Given the description of an element on the screen output the (x, y) to click on. 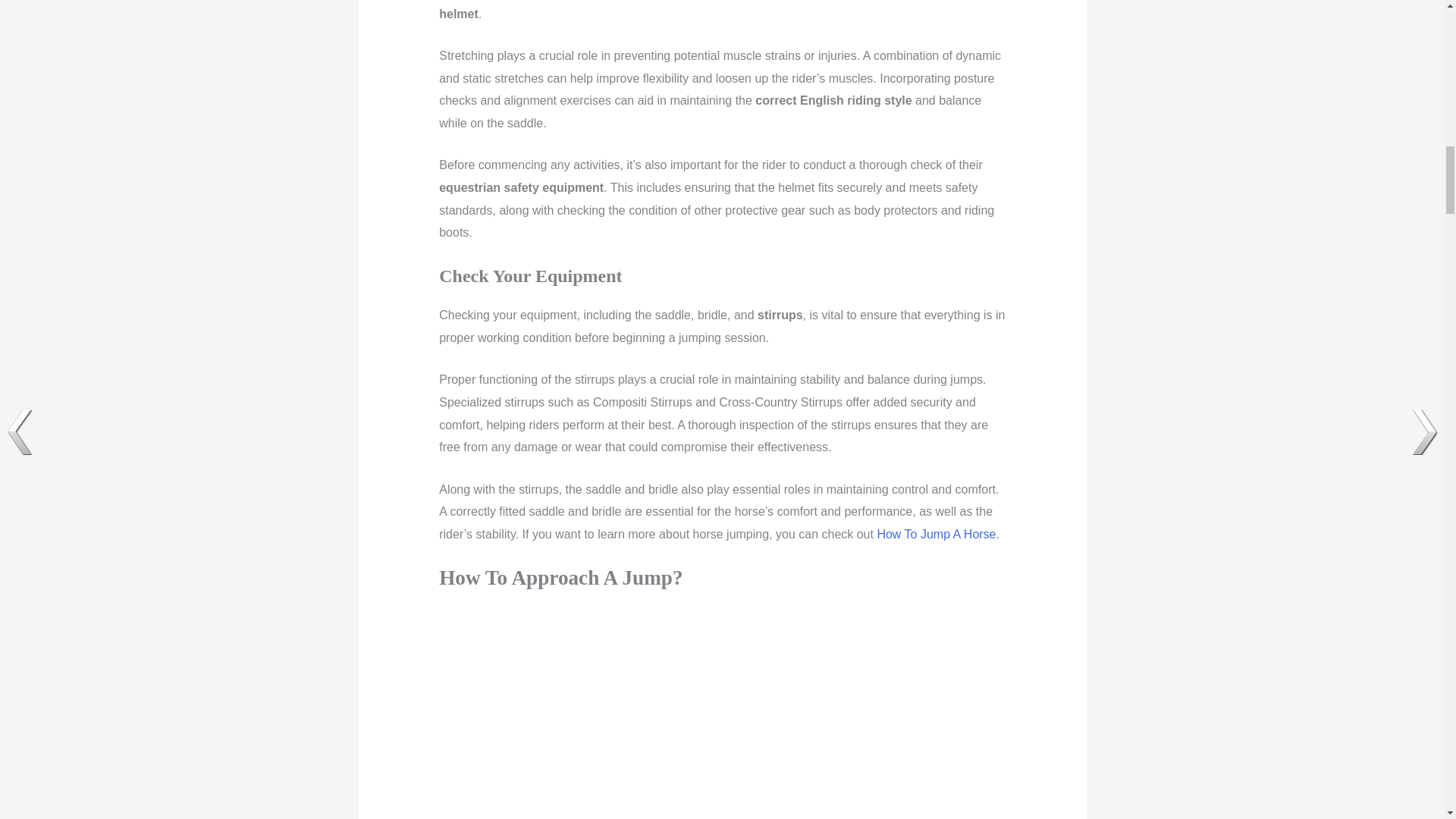
How To Jump A Horse (935, 533)
